Given the description of an element on the screen output the (x, y) to click on. 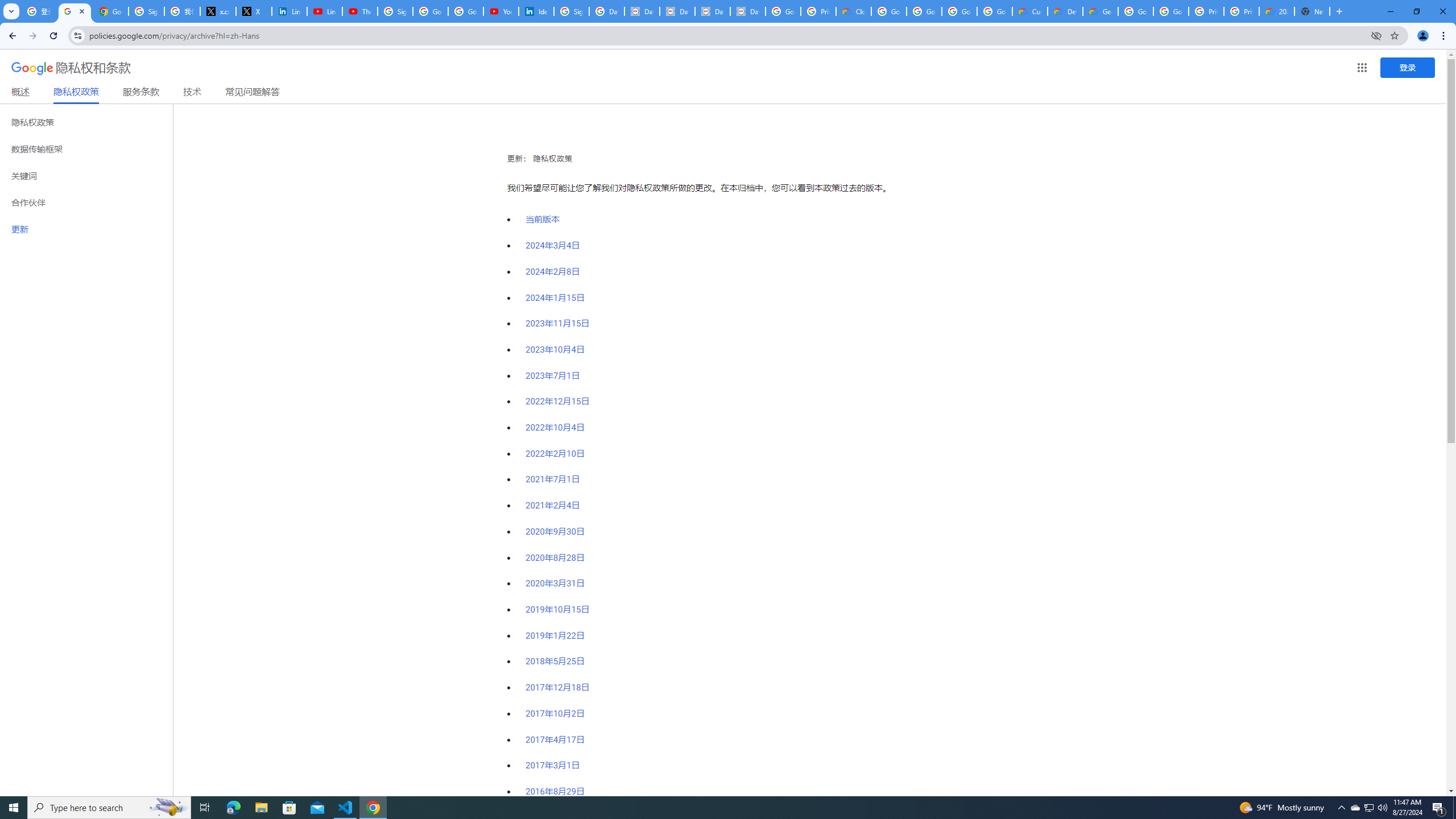
Google Workspace - Specific Terms (994, 11)
LinkedIn - YouTube (324, 11)
New Tab (1312, 11)
Cloud Data Processing Addendum | Google Cloud (853, 11)
Customer Care | Google Cloud (1029, 11)
Data Privacy Framework (712, 11)
Google Cloud Platform (1170, 11)
